Given the description of an element on the screen output the (x, y) to click on. 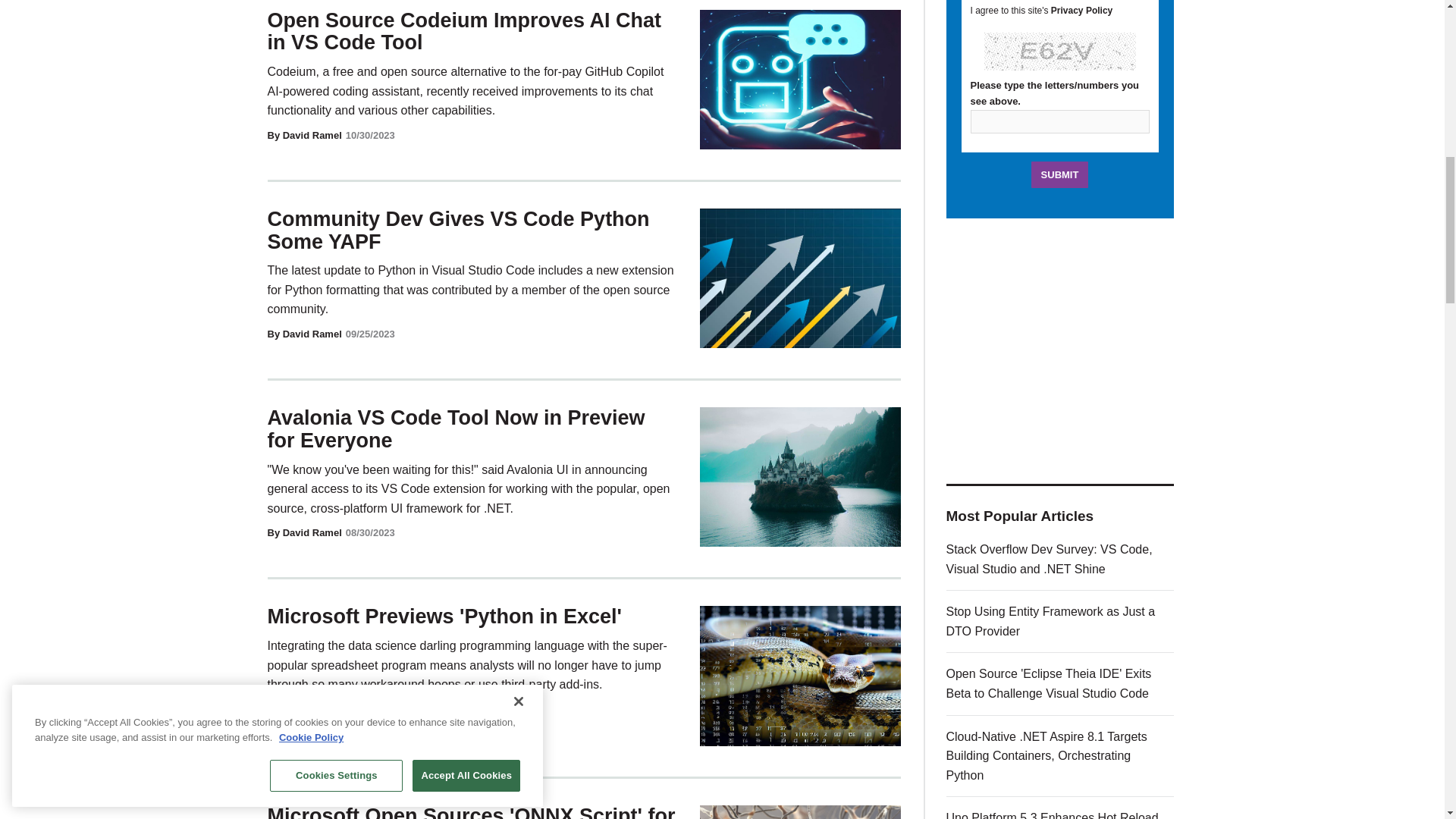
3rd party ad content (1059, 350)
Submit (1059, 174)
